Given the description of an element on the screen output the (x, y) to click on. 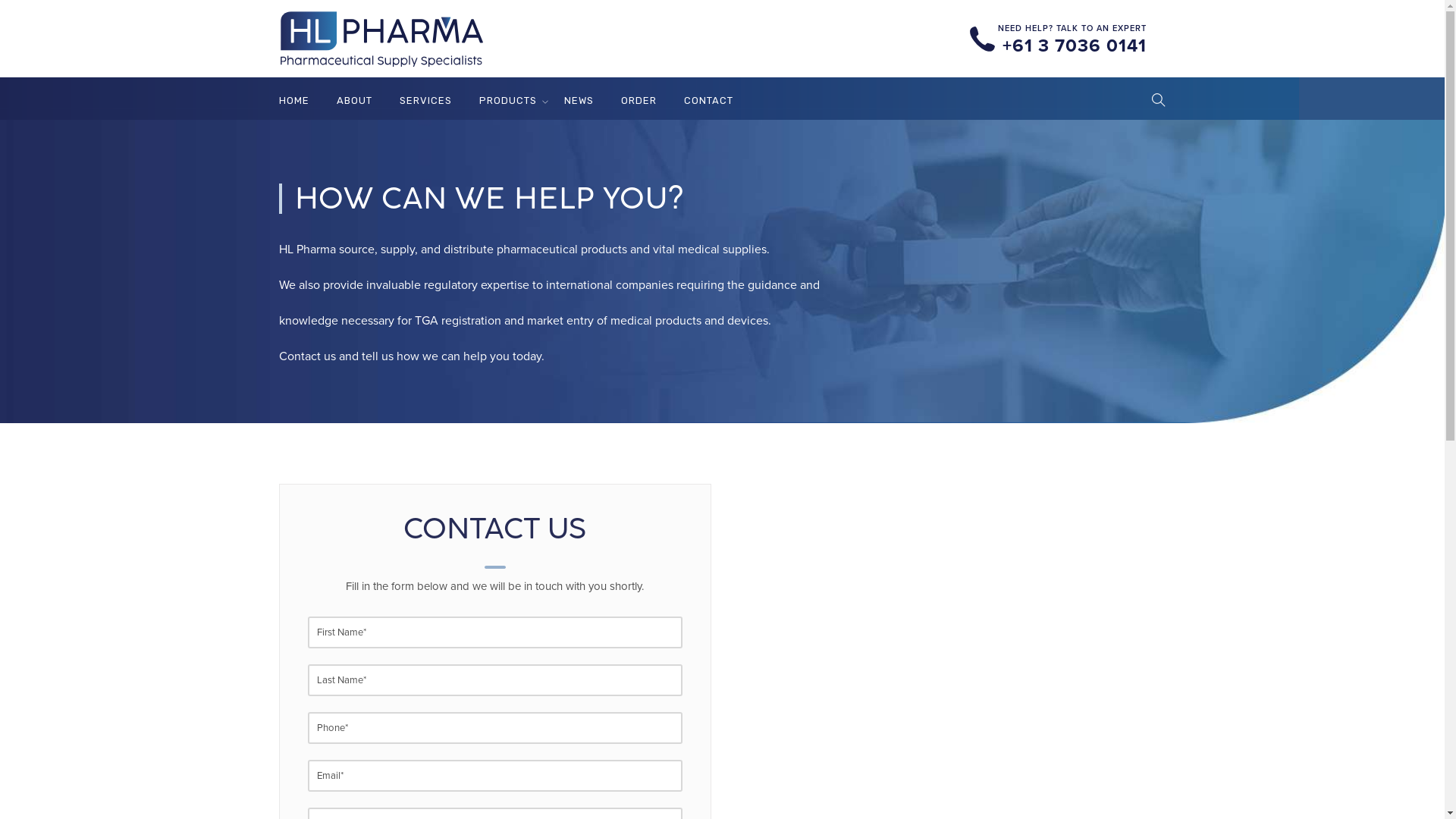
NEWS Element type: text (578, 100)
ABOUT Element type: text (354, 100)
CONTACT Element type: text (708, 100)
+61 3 7036 0141 Element type: text (1071, 45)
PRODUCTS Element type: text (507, 100)
HOME Element type: text (294, 100)
ORDER Element type: text (637, 100)
HL Pharma Pharmaceutical Supply Specialists Element type: hover (381, 38)
SERVICES Element type: text (424, 100)
